Given the description of an element on the screen output the (x, y) to click on. 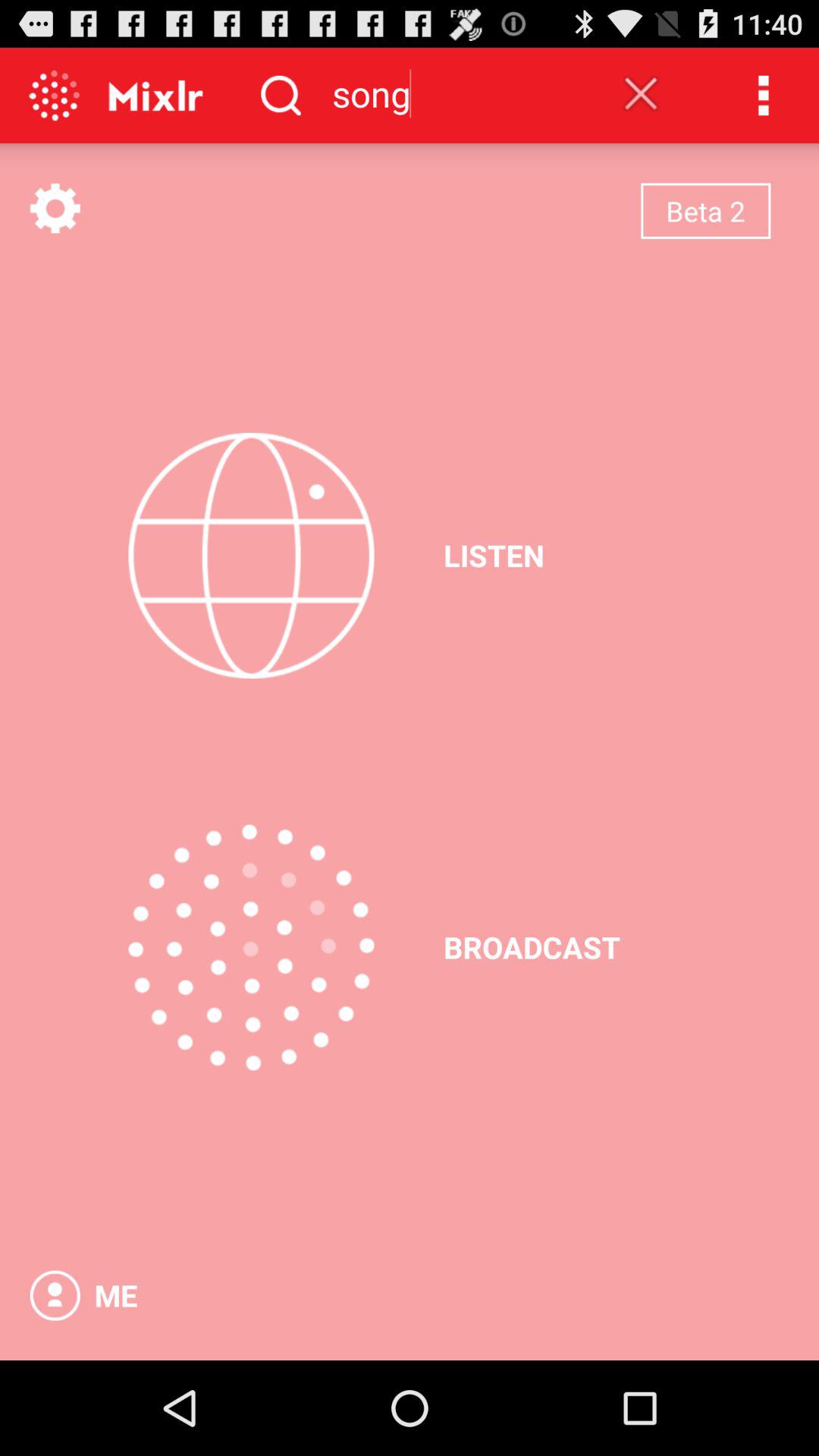
open the app to the left of listen app (251, 555)
